Given the description of an element on the screen output the (x, y) to click on. 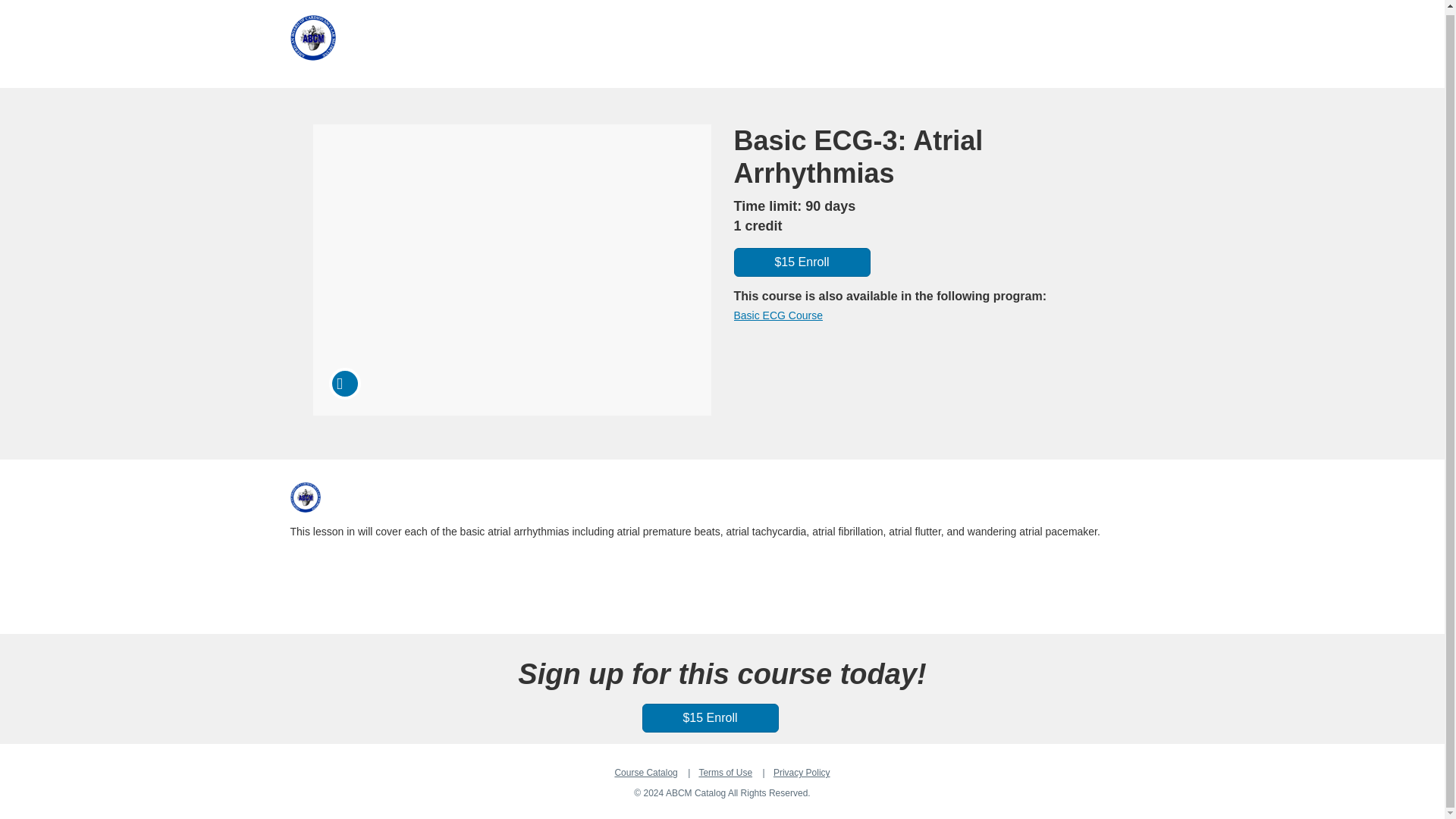
Basic ECG Course (777, 315)
Course (345, 383)
Privacy Policy (801, 772)
Terms of Use (725, 772)
Course Catalog (645, 772)
ABCM Catalog (304, 497)
